Given the description of an element on the screen output the (x, y) to click on. 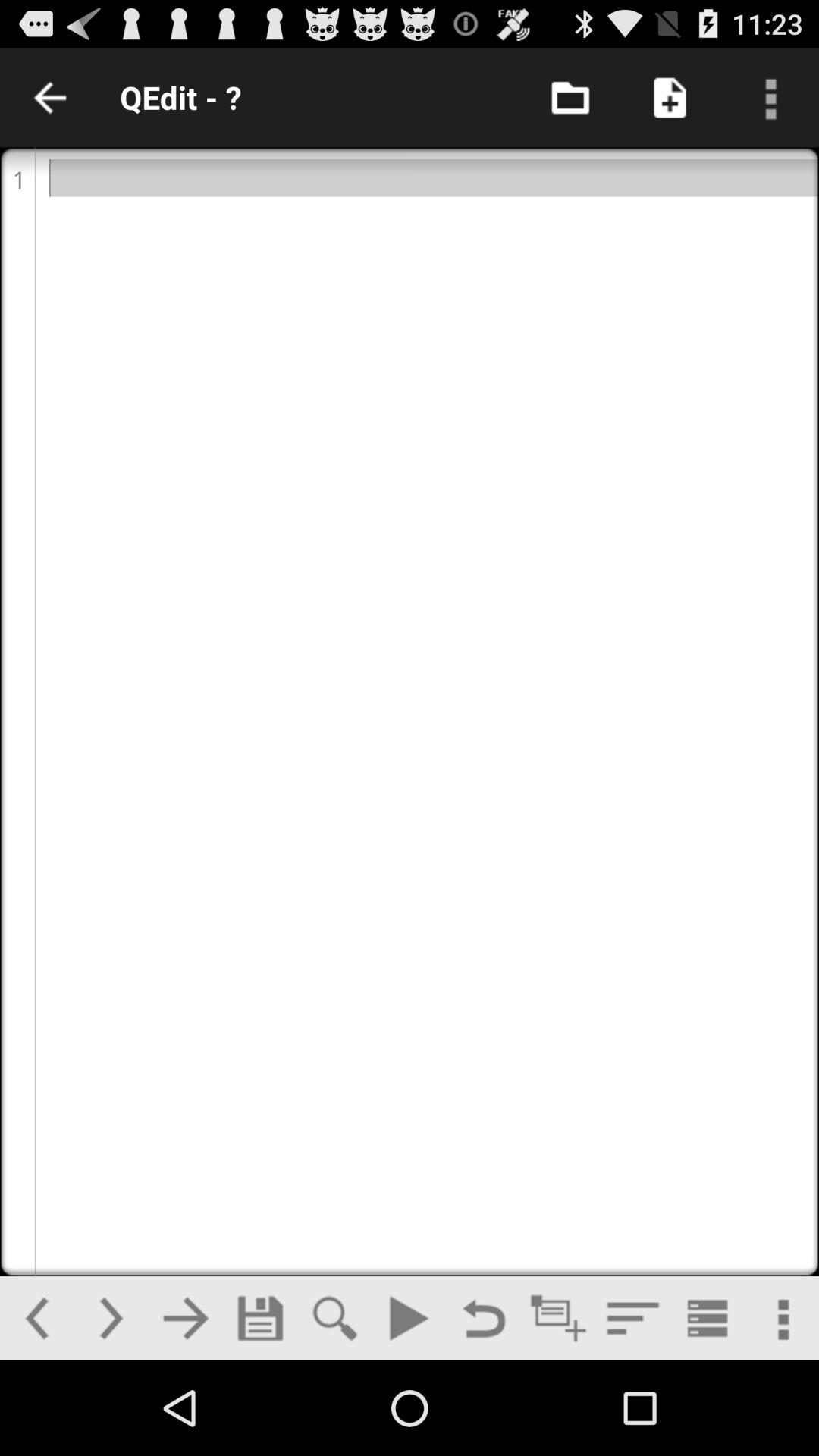
more option (781, 1318)
